Given the description of an element on the screen output the (x, y) to click on. 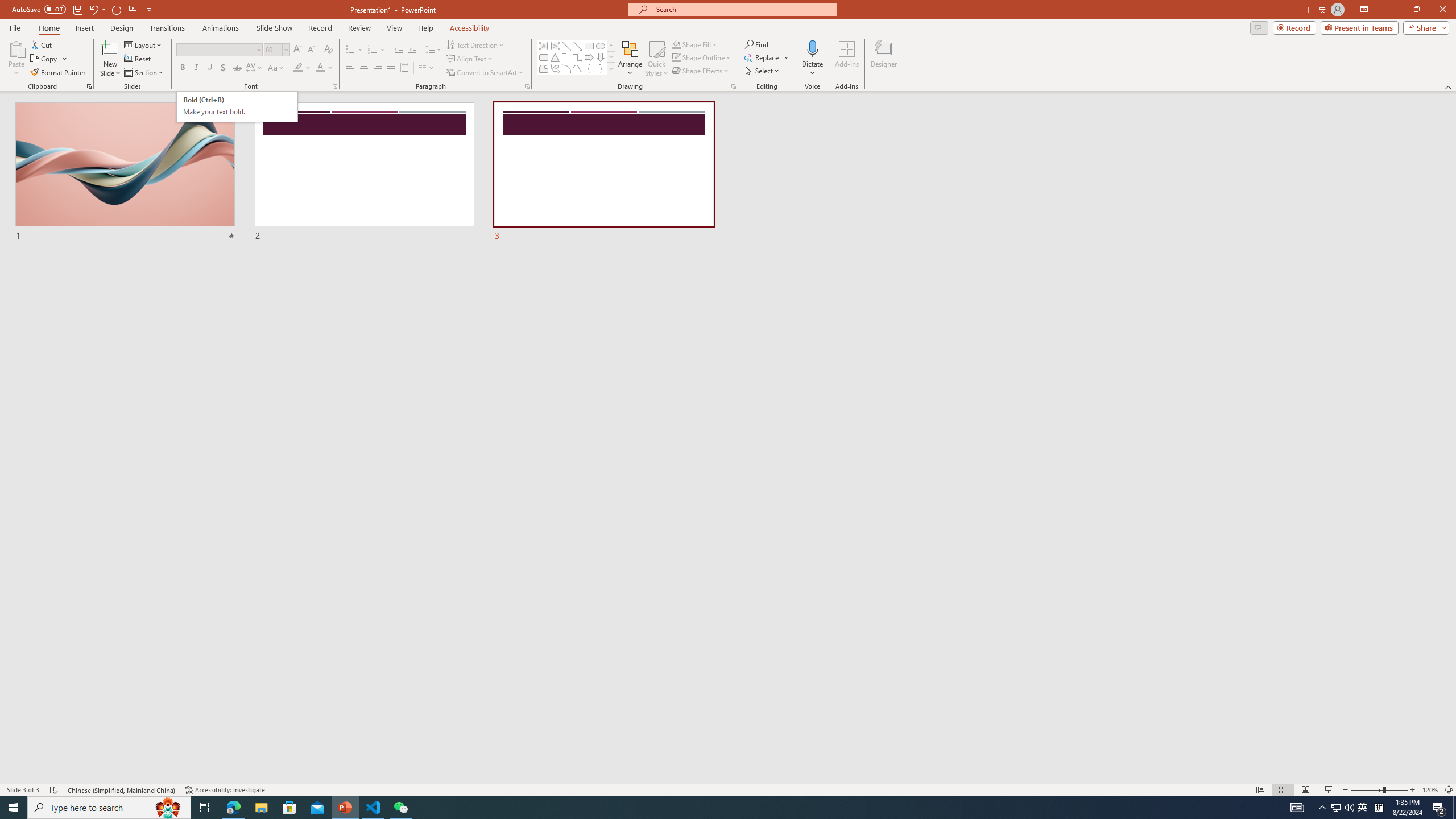
Cut (42, 44)
AutomationID: ShapesInsertGallery (576, 57)
Rectangle: Rounded Corners (543, 57)
Shapes (611, 68)
More Options (812, 68)
Connector: Elbow Arrow (577, 57)
Replace... (762, 56)
Line Spacing (433, 49)
Row Down (611, 56)
Bullets (354, 49)
Align Left (349, 67)
Slide Show (1328, 790)
Slide Sorter (1282, 790)
Zoom 120% (1430, 790)
Close (1442, 9)
